Given the description of an element on the screen output the (x, y) to click on. 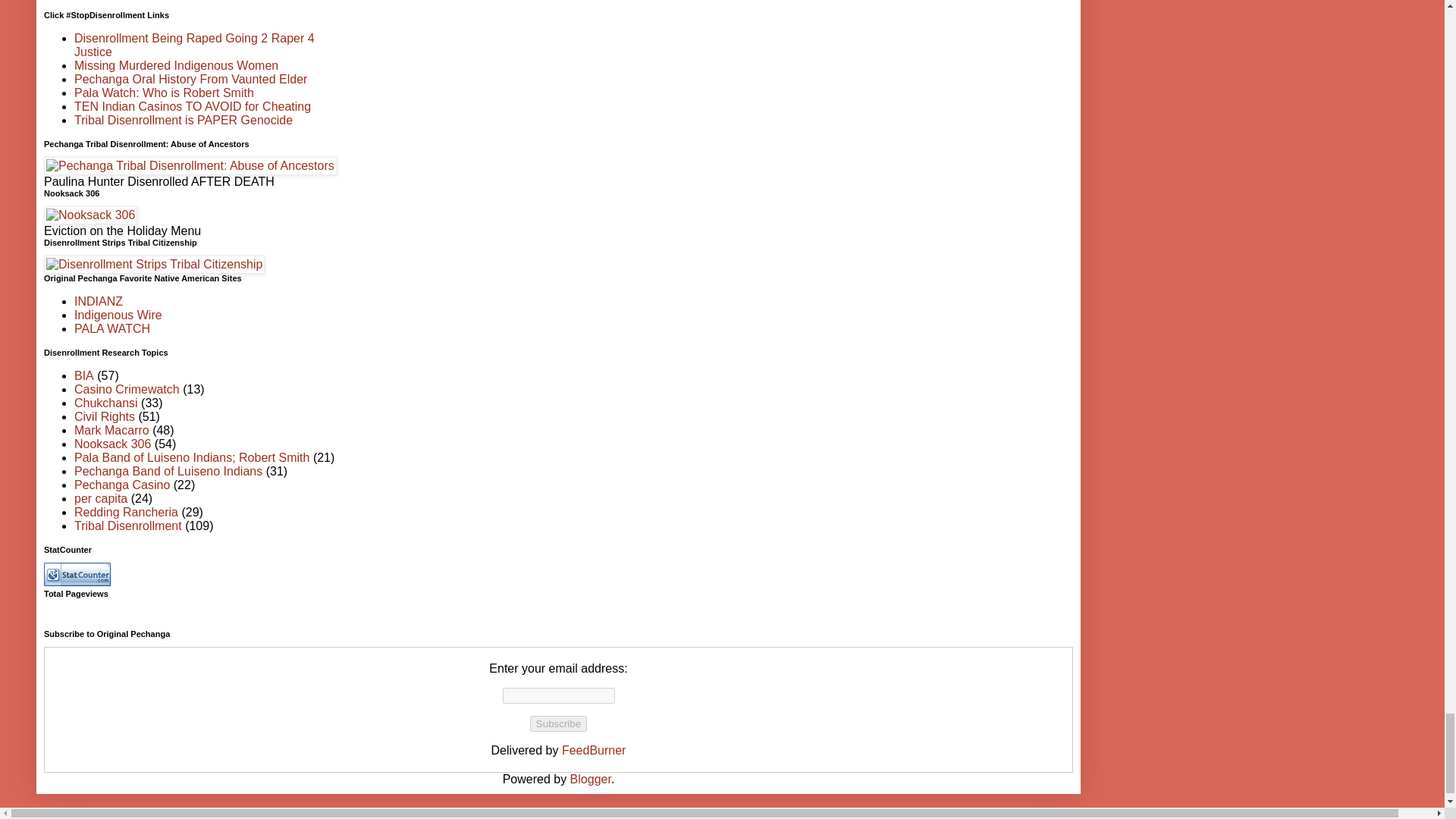
Subscribe (557, 723)
